Given the description of an element on the screen output the (x, y) to click on. 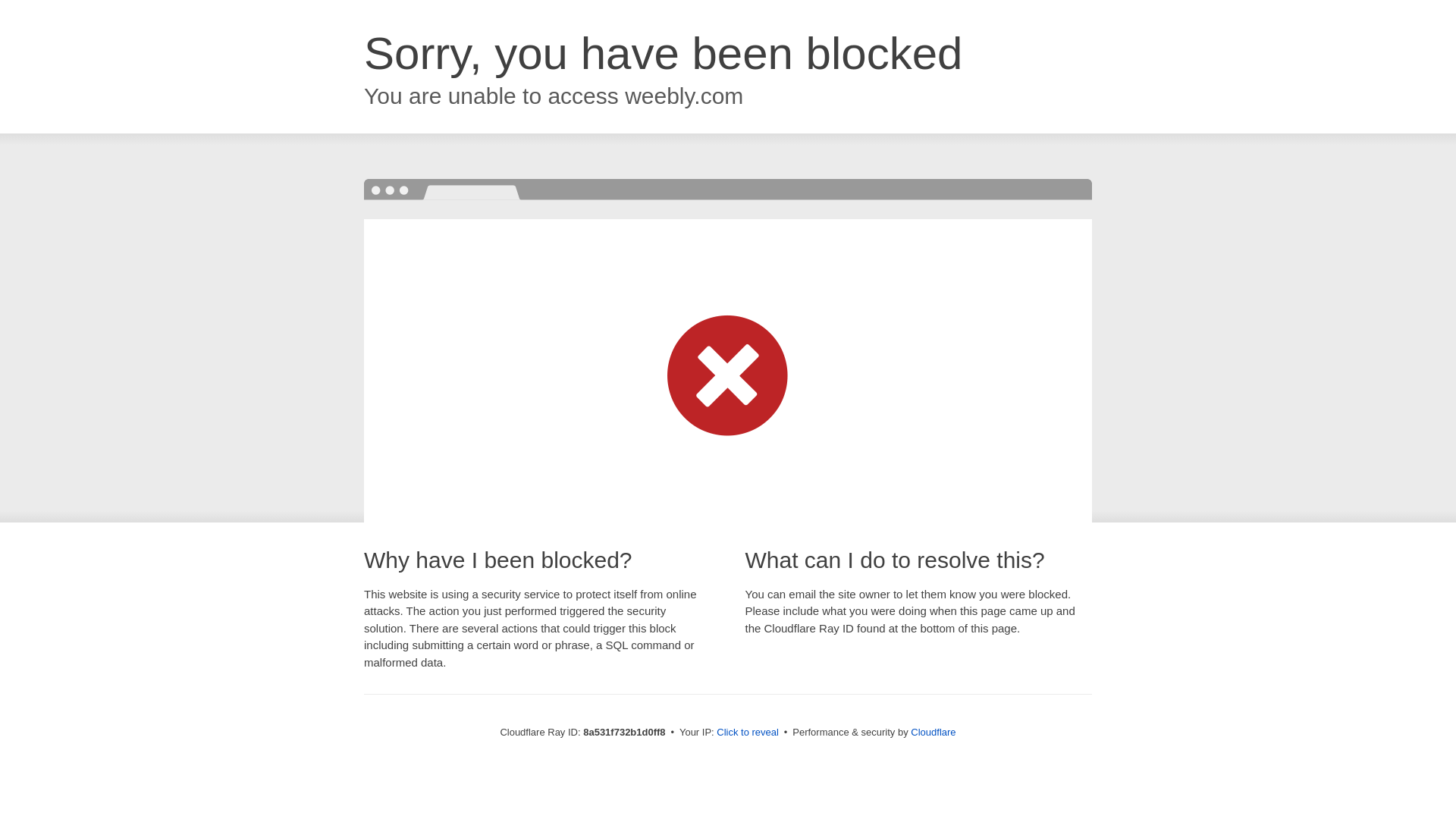
Cloudflare (933, 731)
Click to reveal (747, 732)
